Given the description of an element on the screen output the (x, y) to click on. 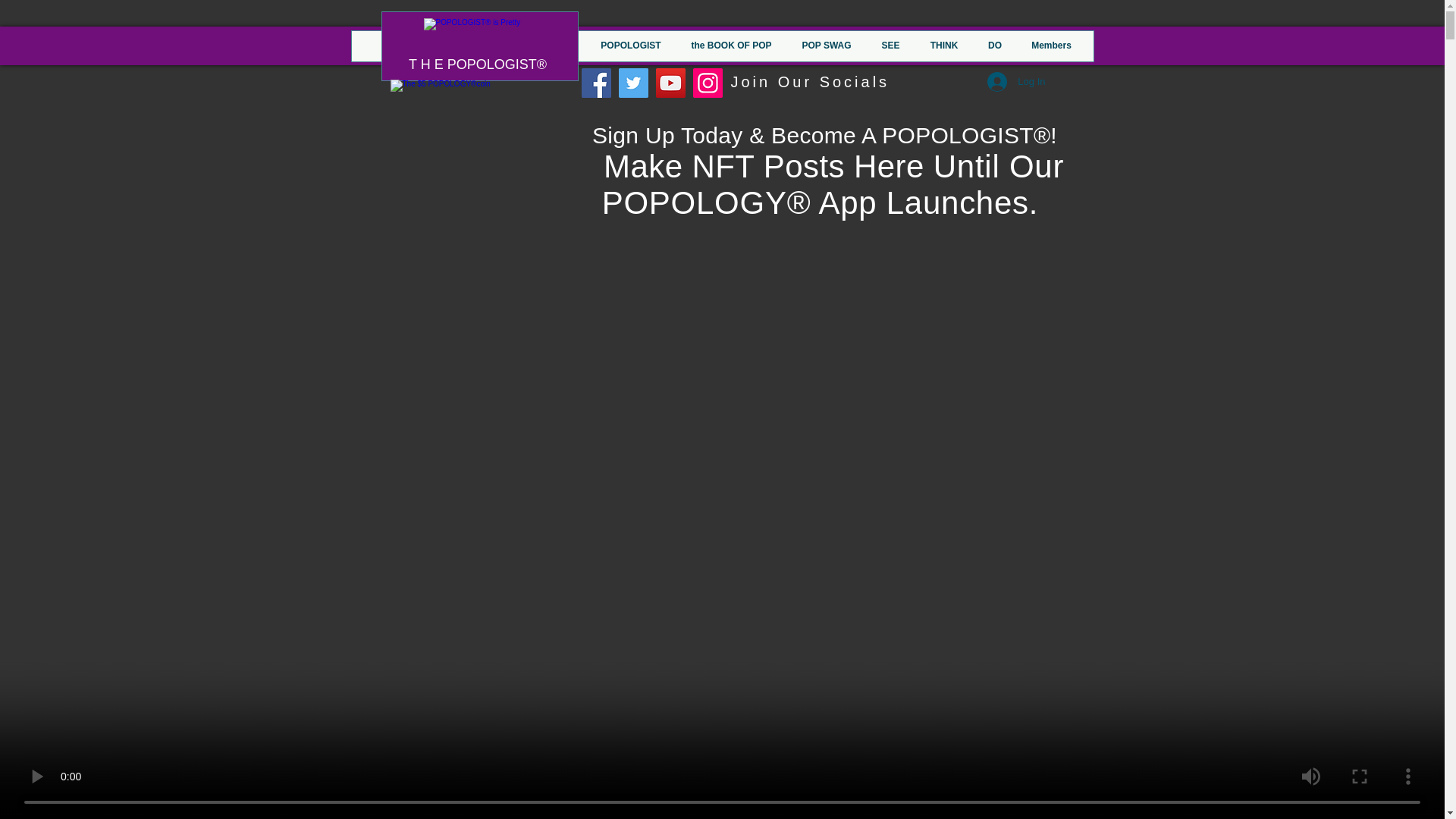
Members (1051, 45)
Log In (1015, 81)
POP SWAG (826, 45)
the BOOK OF POP (732, 45)
POPOLOGIST (630, 45)
SEE (890, 45)
DO (995, 45)
THINK (943, 45)
